Given the description of an element on the screen output the (x, y) to click on. 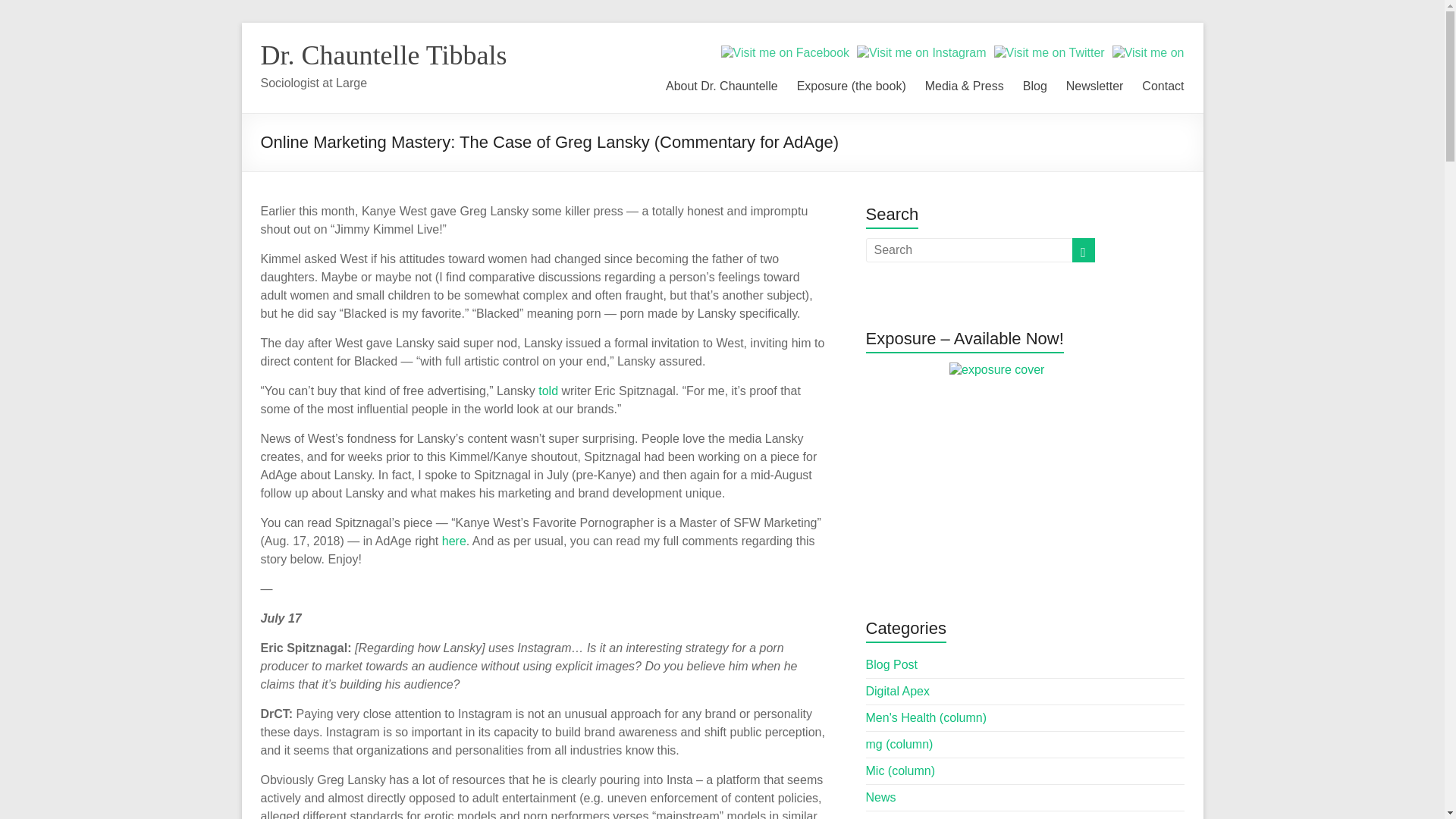
told (547, 390)
Contact (1162, 83)
Newsletter (1094, 83)
Search (38, 11)
Dr. Chauntelle Tibbals (383, 55)
Dr. Chauntelle Tibbals (383, 55)
Visit me on Twitter (1049, 52)
Visit me on Instagram (921, 52)
About Dr. Chauntelle (721, 83)
Visit me on  (1148, 52)
